Given the description of an element on the screen output the (x, y) to click on. 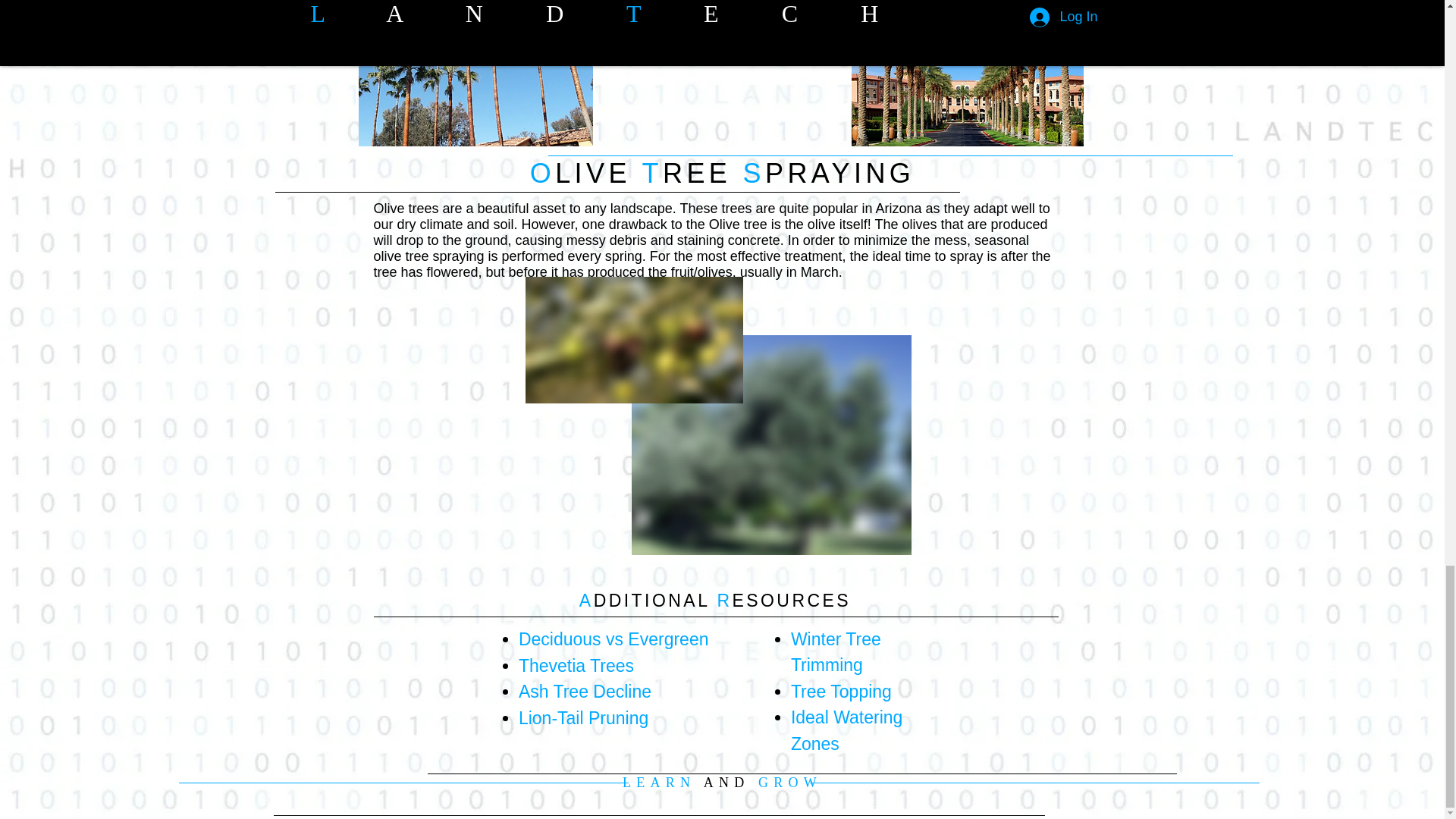
Ideal Watering Zones (846, 730)
Ash Tree Decline (584, 691)
Thevetia Trees (575, 665)
Tree Topping (840, 691)
Deciduous vs Evergreen (613, 639)
Winter Tree Trimming (835, 652)
Lion-Tail Pruning (582, 718)
